Given the description of an element on the screen output the (x, y) to click on. 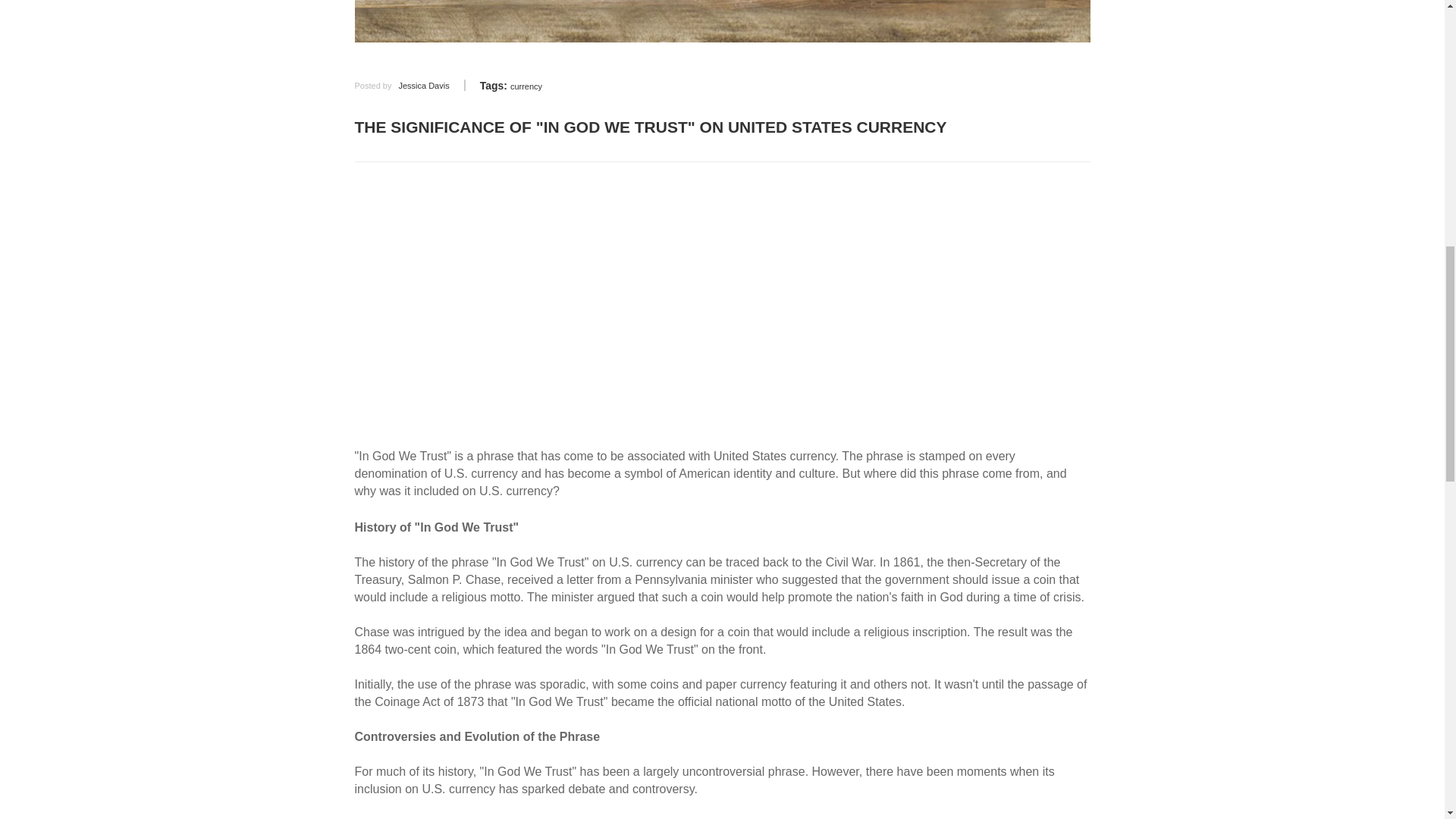
currency (526, 85)
Jessica Davis (422, 85)
